Given the description of an element on the screen output the (x, y) to click on. 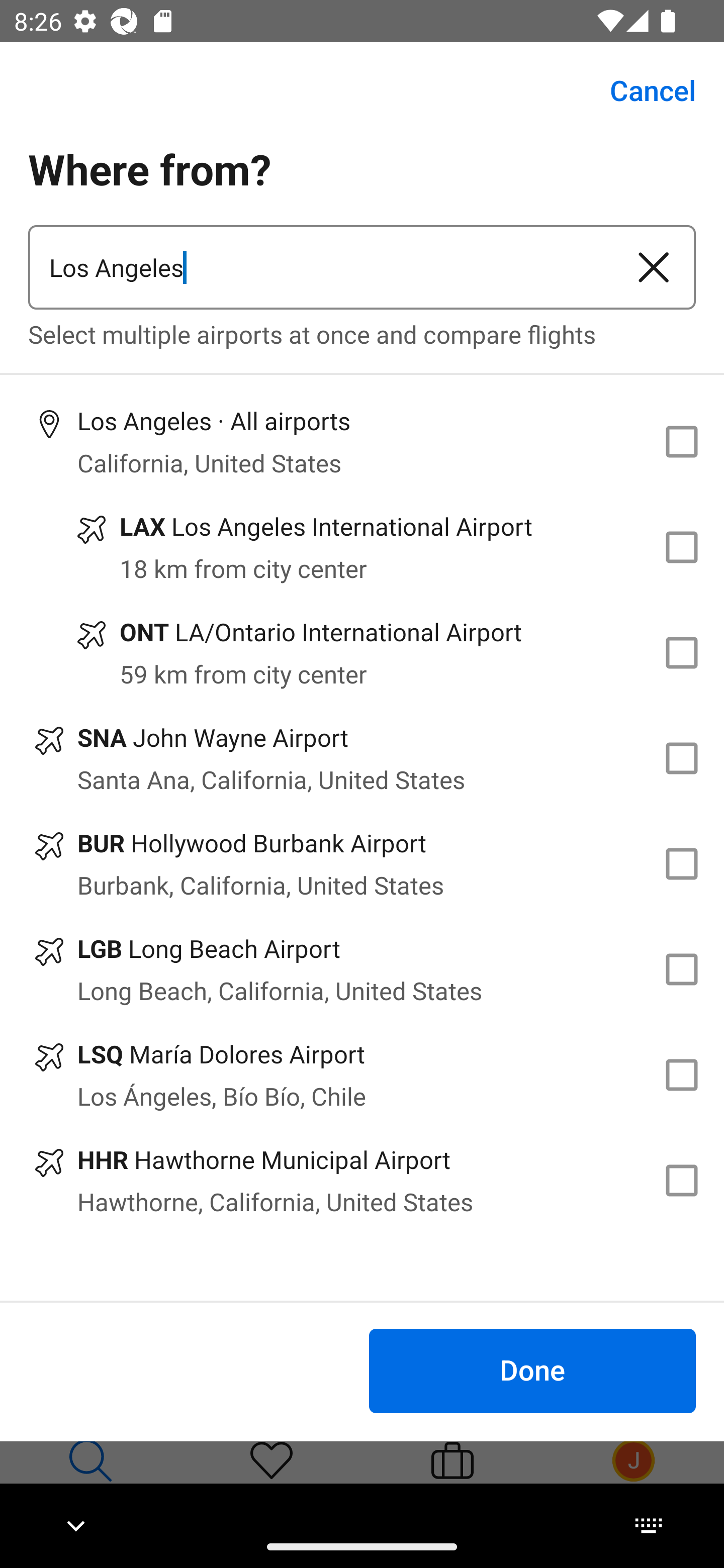
Cancel (641, 90)
Los Angeles (319, 266)
Clear airport or city (653, 266)
Done (532, 1370)
